Given the description of an element on the screen output the (x, y) to click on. 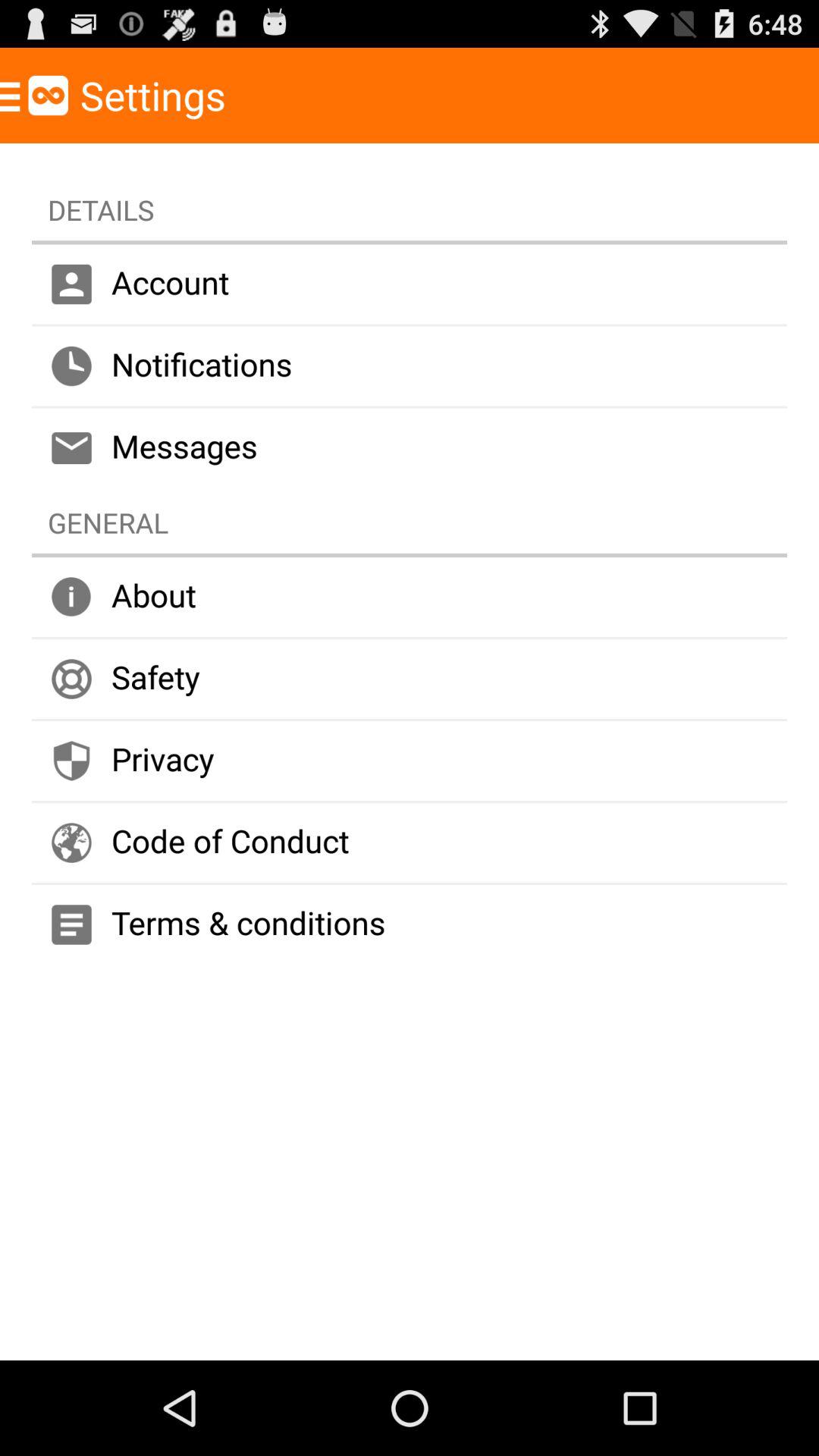
swipe to privacy icon (409, 760)
